Given the description of an element on the screen output the (x, y) to click on. 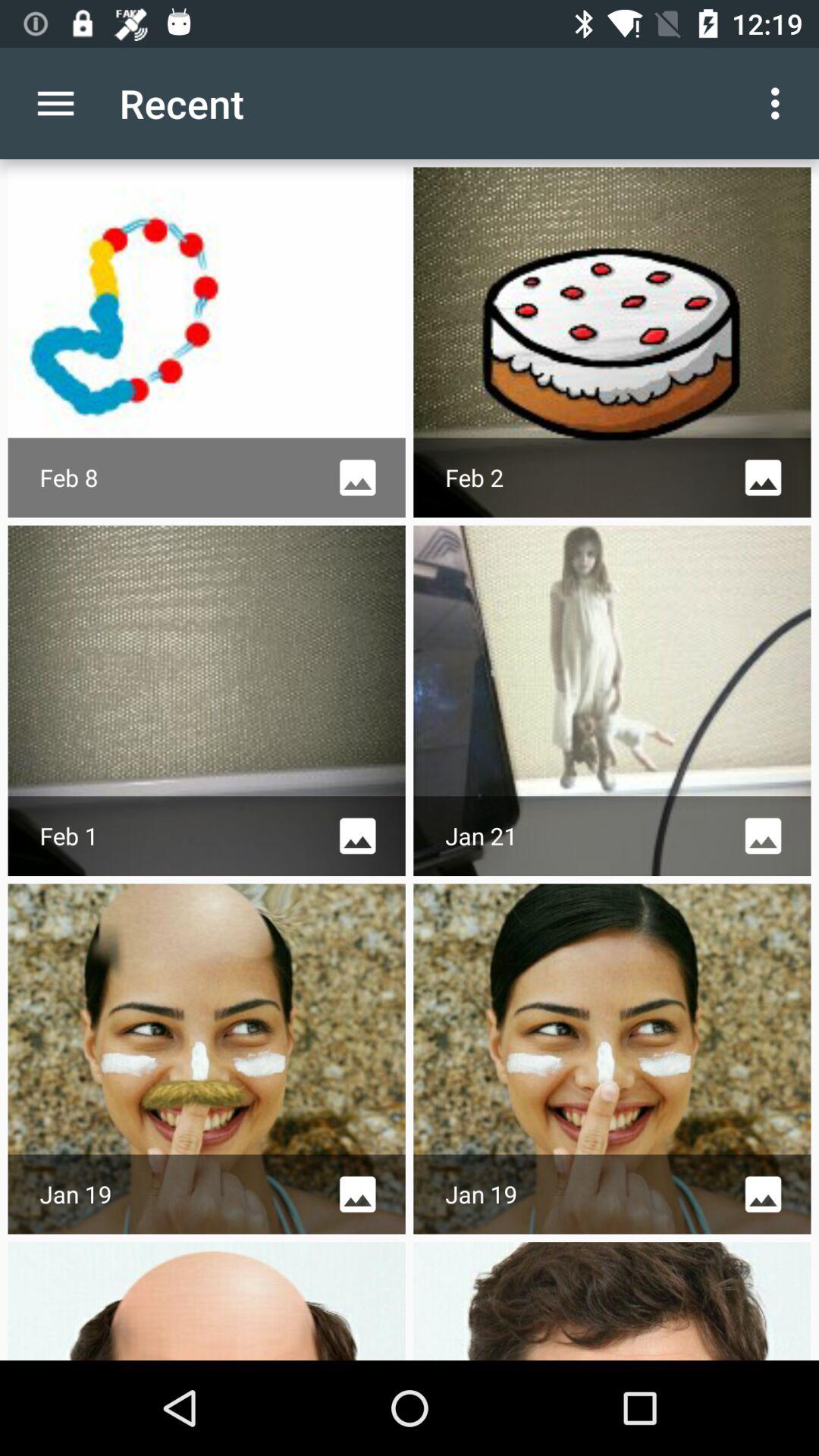
press the item to the left of recent icon (55, 103)
